Given the description of an element on the screen output the (x, y) to click on. 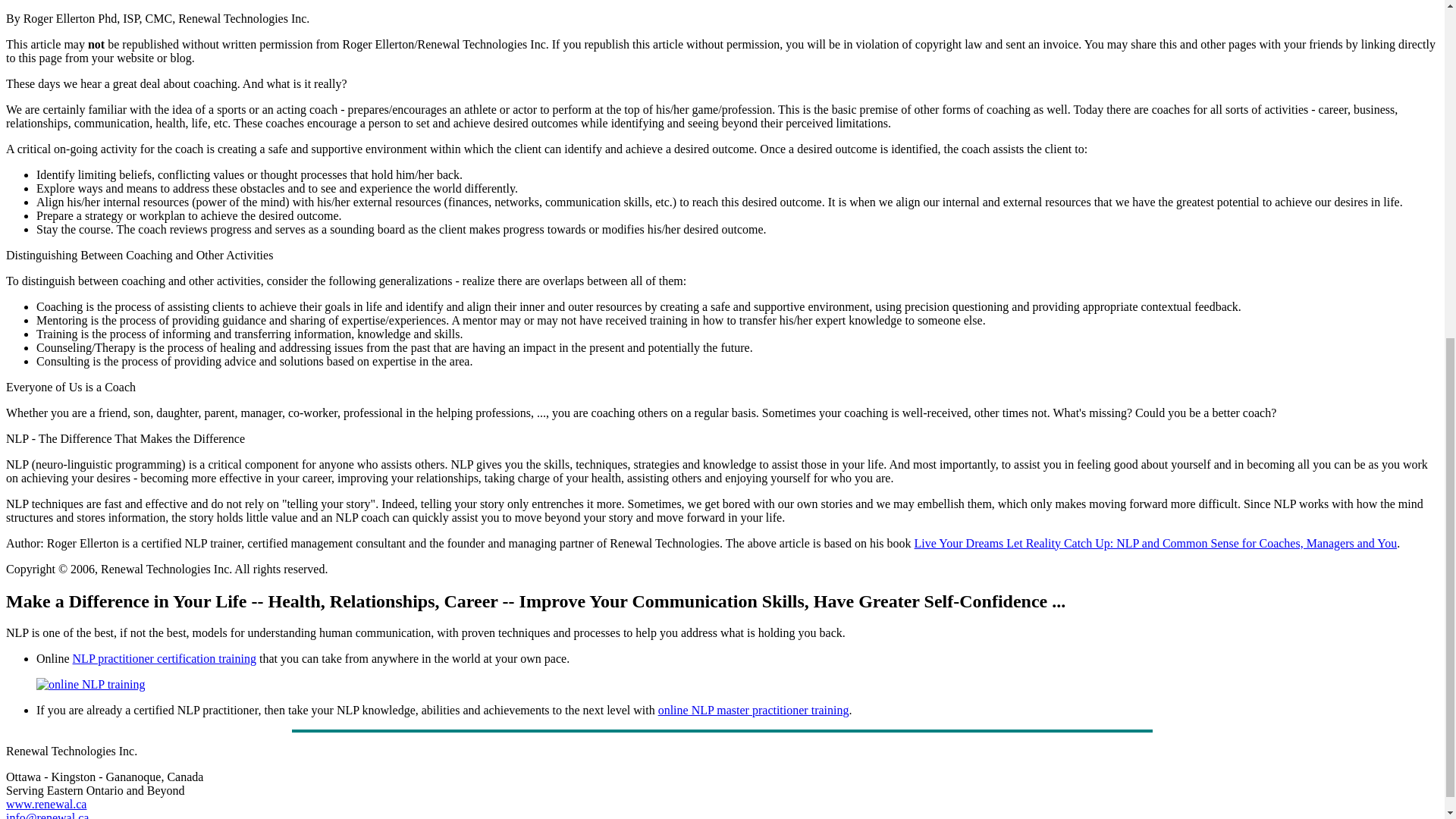
NLP practitioner certification training (164, 658)
www.renewal.ca (45, 803)
online NLP master practitioner training (753, 709)
